Given the description of an element on the screen output the (x, y) to click on. 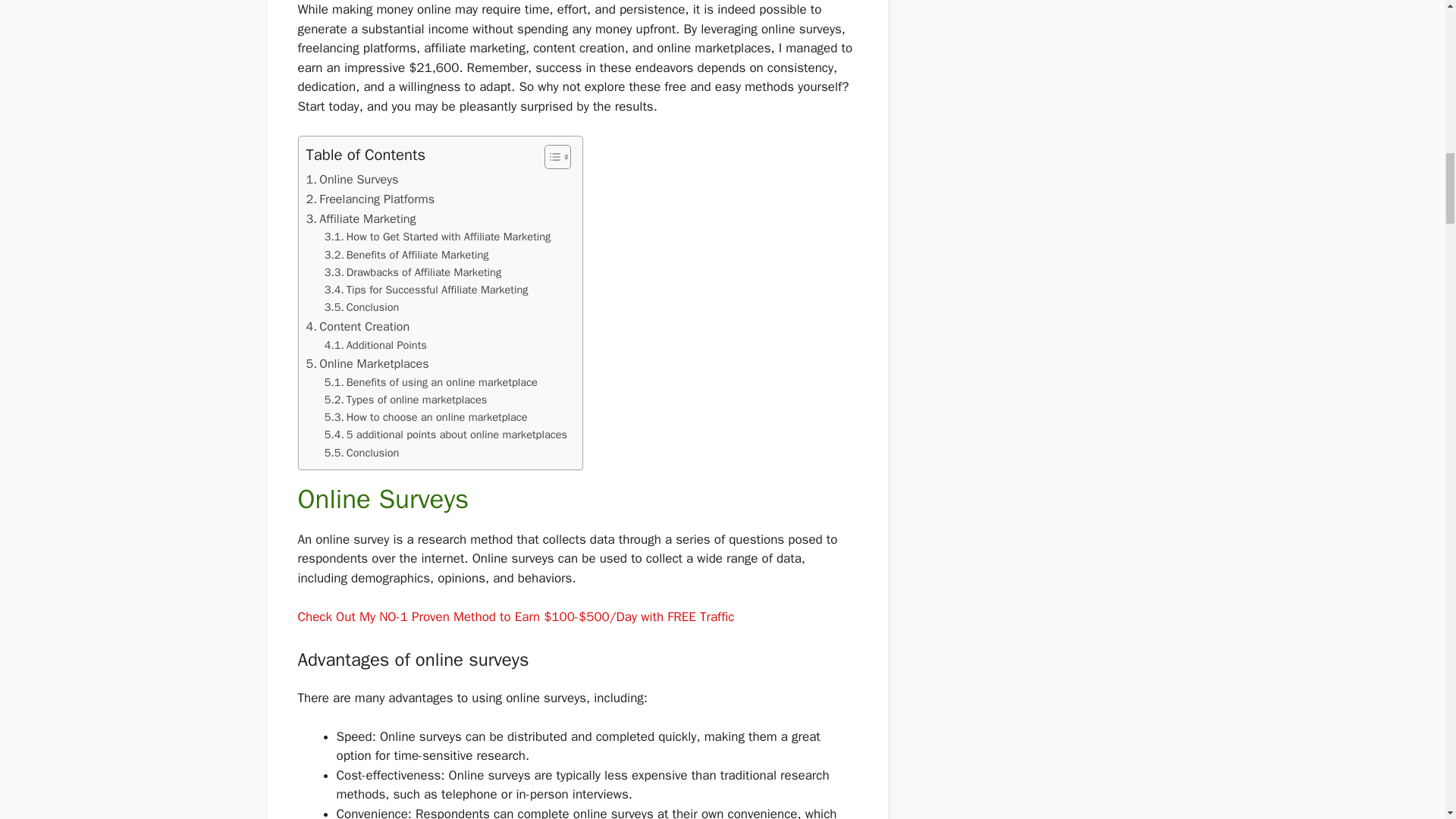
Types of online marketplaces (405, 399)
Tips for Successful Affiliate Marketing (426, 289)
Conclusion (361, 307)
How to Get Started with Affiliate Marketing (437, 236)
5 additional points about online marketplaces (445, 434)
Freelancing Platforms (370, 199)
Conclusion (361, 452)
Benefits of Affiliate Marketing (406, 254)
Drawbacks of Affiliate Marketing (412, 272)
Online Surveys (351, 179)
How to Get Started with Affiliate Marketing (437, 236)
Affiliate Marketing (360, 219)
Benefits of Affiliate Marketing (406, 254)
Tips for Successful Affiliate Marketing (426, 289)
Conclusion (361, 307)
